Given the description of an element on the screen output the (x, y) to click on. 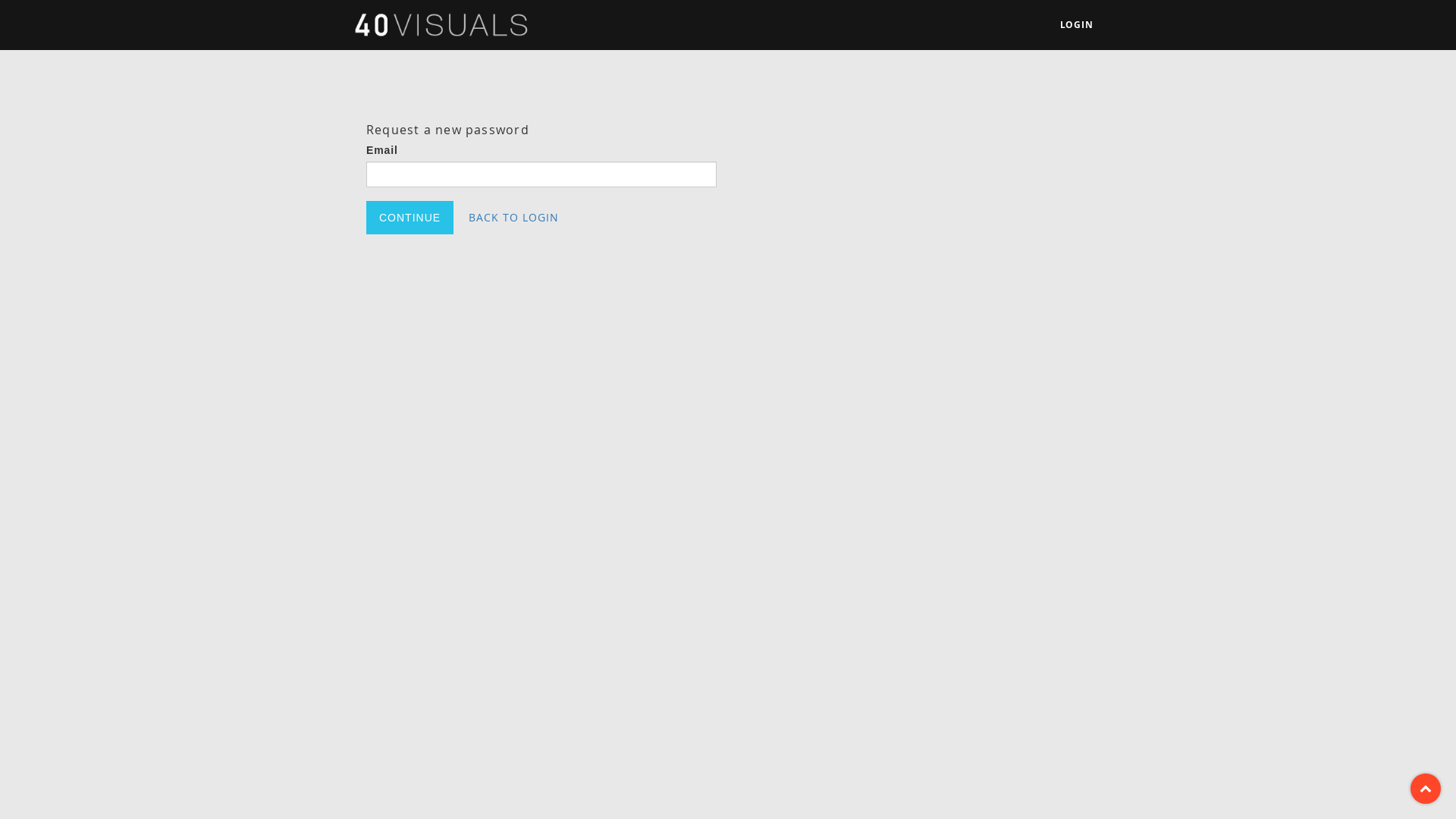
40Visuals.com Element type: hover (441, 24)
BACK TO LOGIN Element type: text (513, 217)
LOGIN Element type: text (1076, 25)
CONTINUE Element type: text (409, 217)
